Given the description of an element on the screen output the (x, y) to click on. 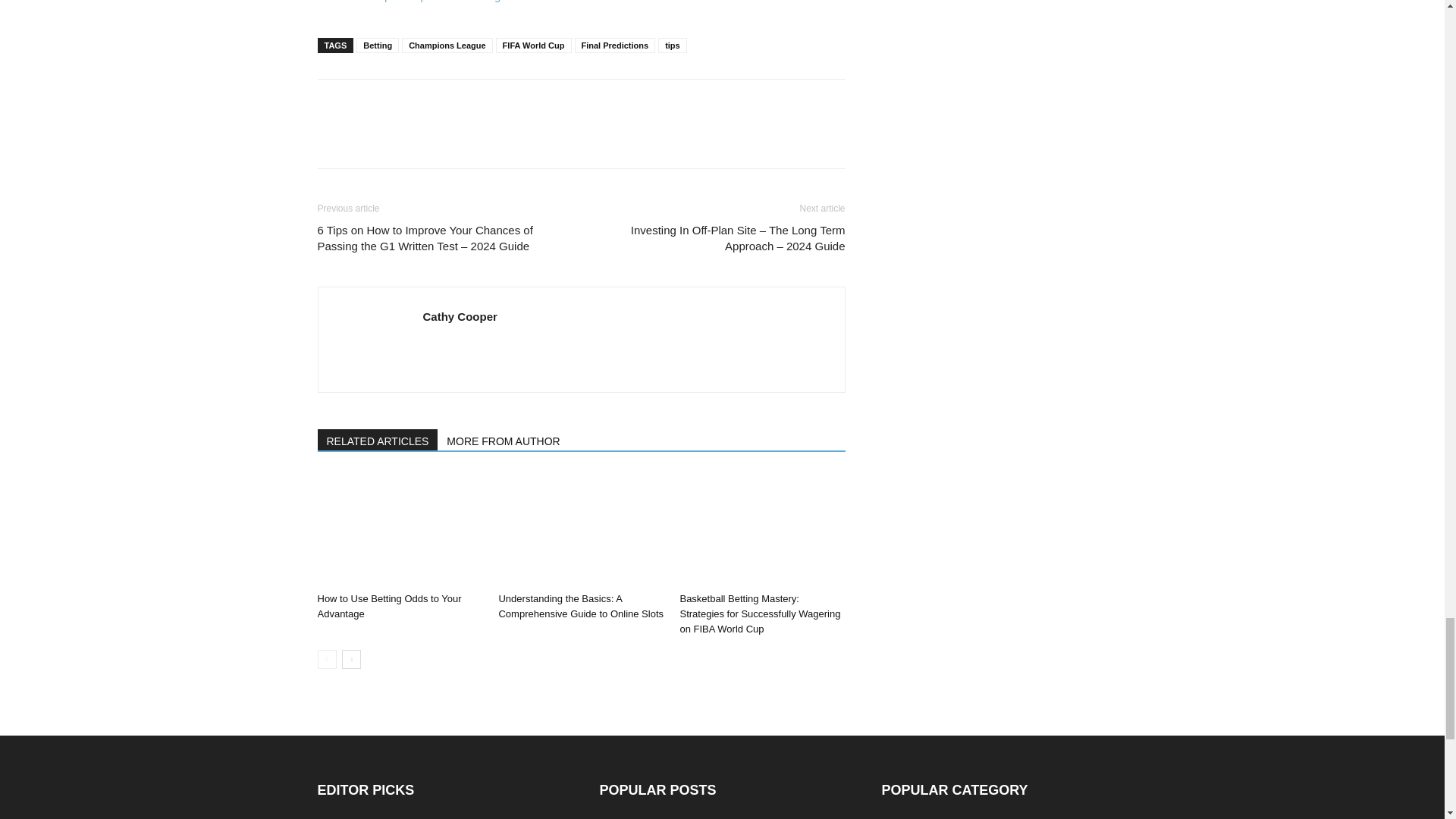
bottomFacebookLike (430, 103)
How to Use Betting Odds to Your Advantage (399, 529)
